Given the description of an element on the screen output the (x, y) to click on. 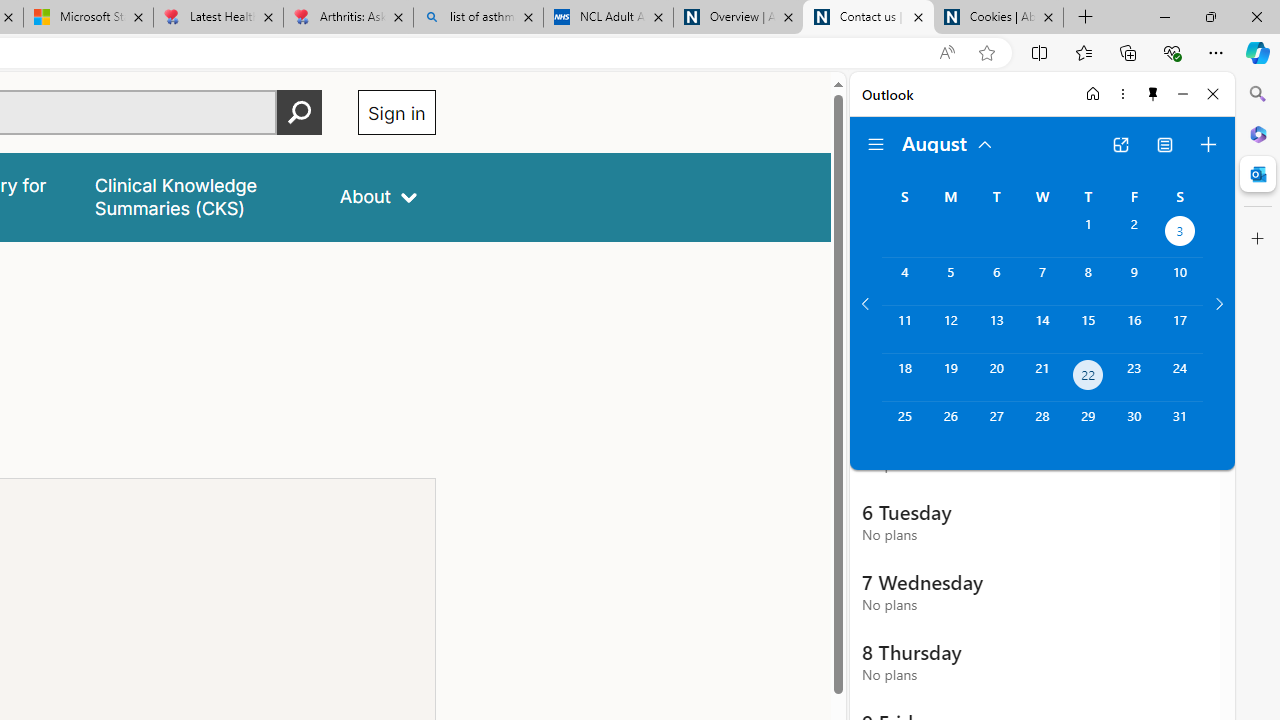
Sunday, August 11, 2024.  (904, 329)
Friday, August 2, 2024.  (1134, 233)
Open in new tab (1120, 144)
Monday, August 19, 2024.  (950, 377)
Sunday, August 25, 2024.  (904, 425)
Contact us | Get involved | NICE (868, 17)
Friday, August 9, 2024.  (1134, 281)
